Given the description of an element on the screen output the (x, y) to click on. 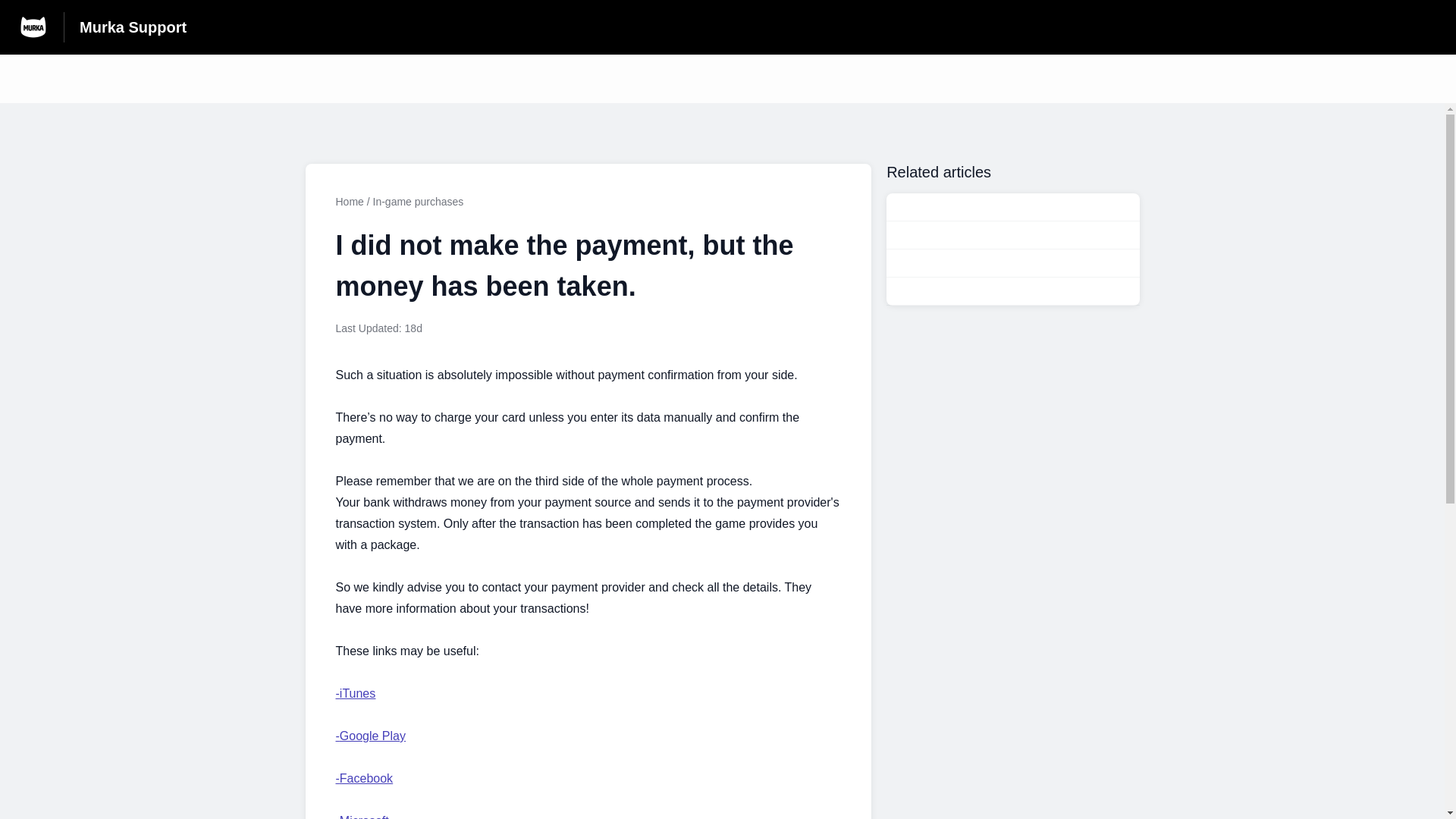
Home (348, 201)
Murka Support (363, 778)
In-game purchases (370, 735)
